Given the description of an element on the screen output the (x, y) to click on. 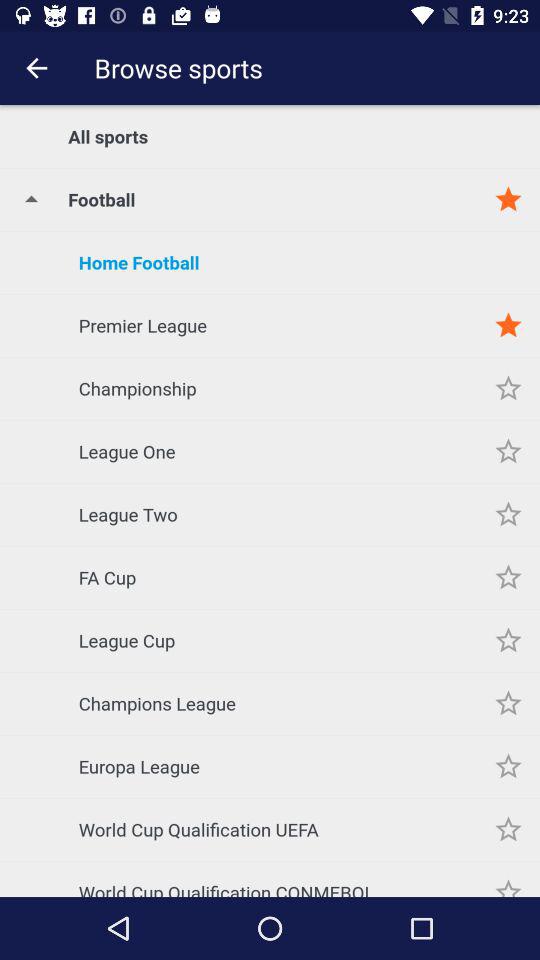
toggle star (508, 577)
